Given the description of an element on the screen output the (x, y) to click on. 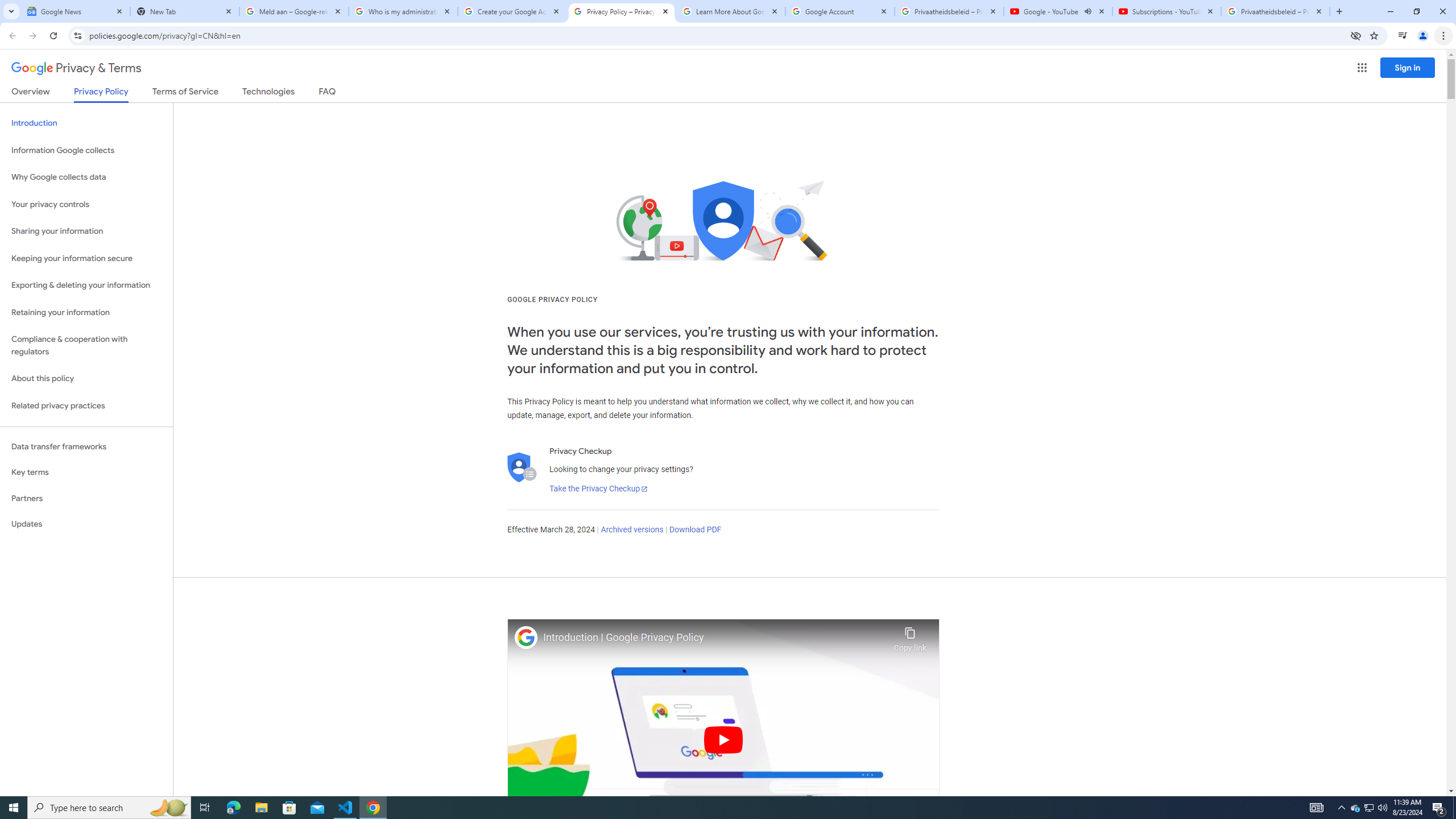
Create your Google Account (512, 11)
Related privacy practices (86, 405)
Partners (86, 497)
Google Account (839, 11)
Why Google collects data (86, 176)
Subscriptions - YouTube (1166, 11)
Sharing your information (86, 230)
